Given the description of an element on the screen output the (x, y) to click on. 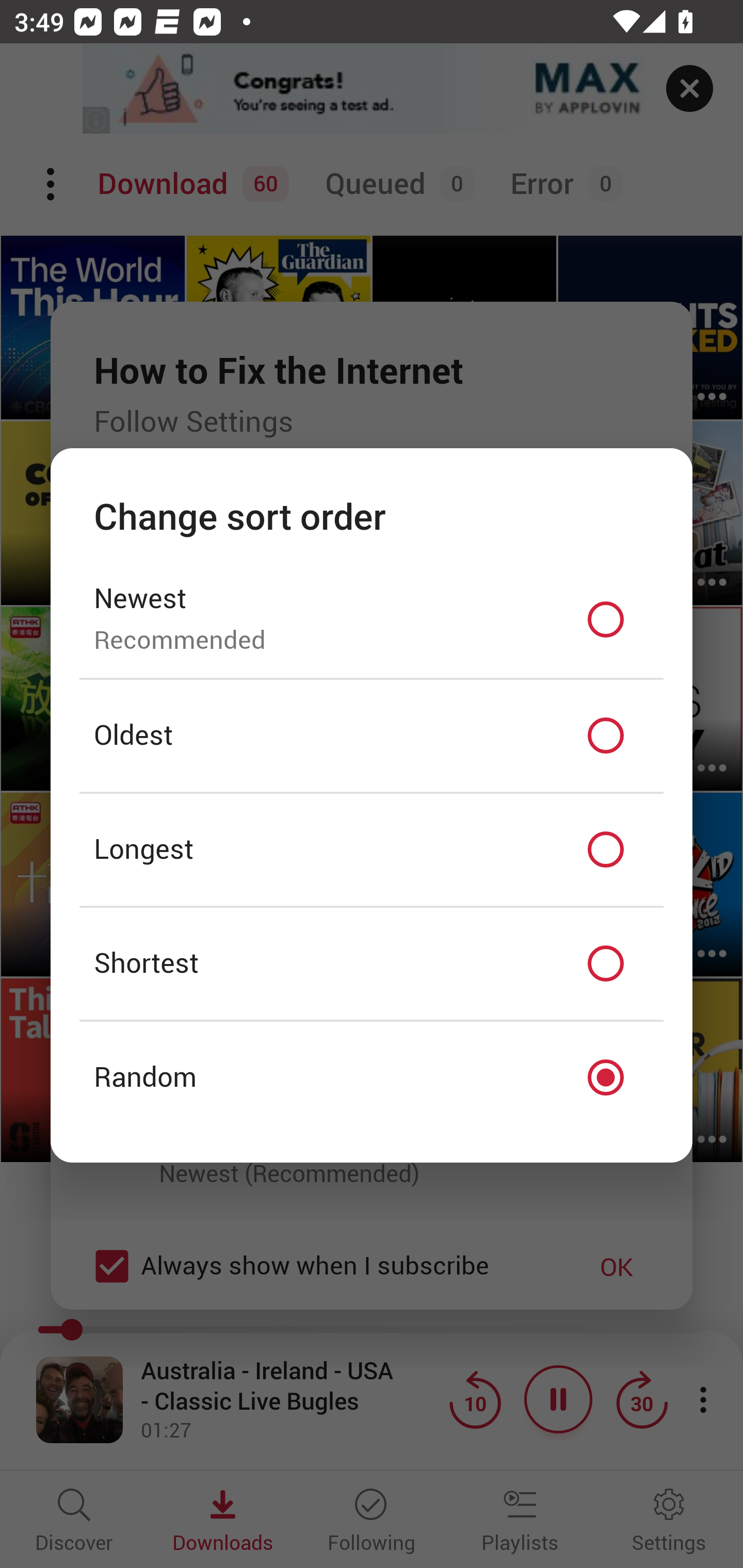
Newest Recommended (371, 619)
Oldest (371, 735)
Longest (371, 849)
Shortest (371, 963)
Random (371, 1077)
